Given the description of an element on the screen output the (x, y) to click on. 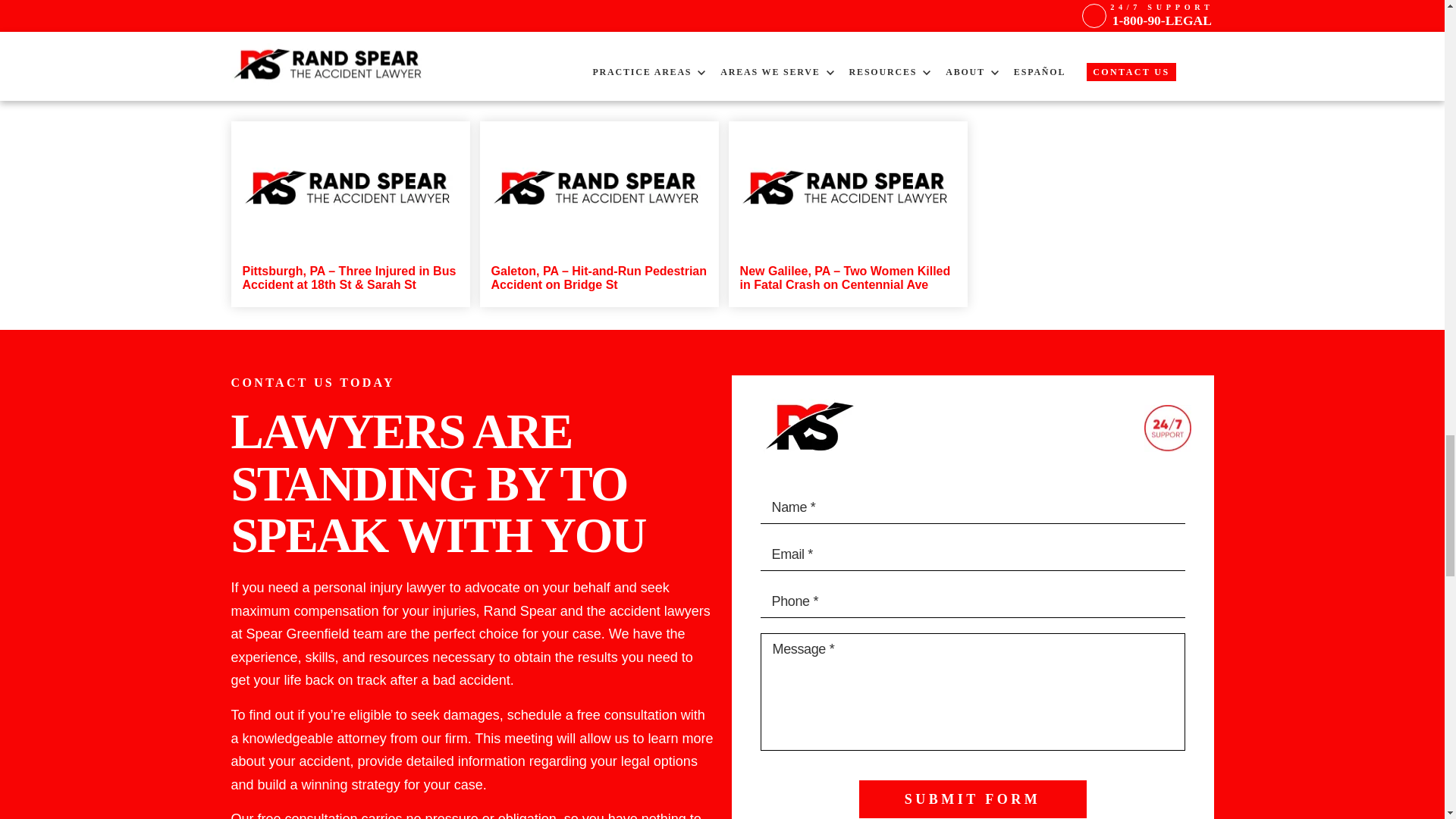
Submit Form (972, 799)
Black Rand Spear Logo (806, 427)
